Given the description of an element on the screen output the (x, y) to click on. 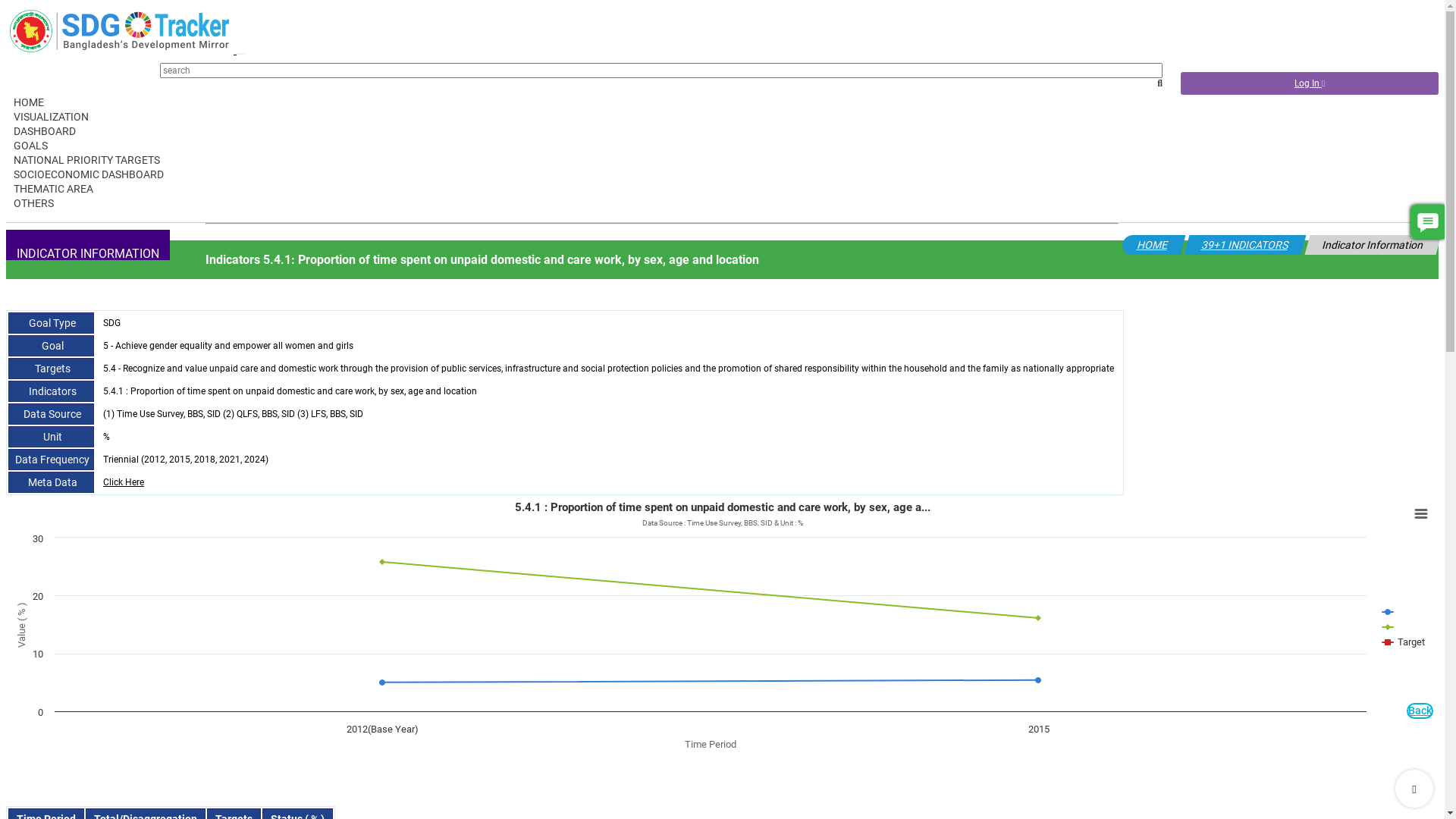
SOCIOECONOMIC DASHBOARD Element type: text (84, 174)
39+1 INDICATORS Element type: text (1243, 244)
GOALS Element type: text (26, 145)
NATIONAL PRIORITY TARGETS Element type: text (83, 159)
HOME Element type: text (24, 102)
DASHBOARD Element type: text (40, 131)
Log In Element type: text (1309, 83)
OTHERS Element type: text (29, 203)
VISUALIZATION Element type: text (47, 116)
Comment Element type: hover (1427, 221)
HOME Element type: text (1150, 244)
Back Element type: text (1419, 710)
Click Here Element type: text (123, 481)
THEMATIC AREA Element type: text (49, 188)
